Given the description of an element on the screen output the (x, y) to click on. 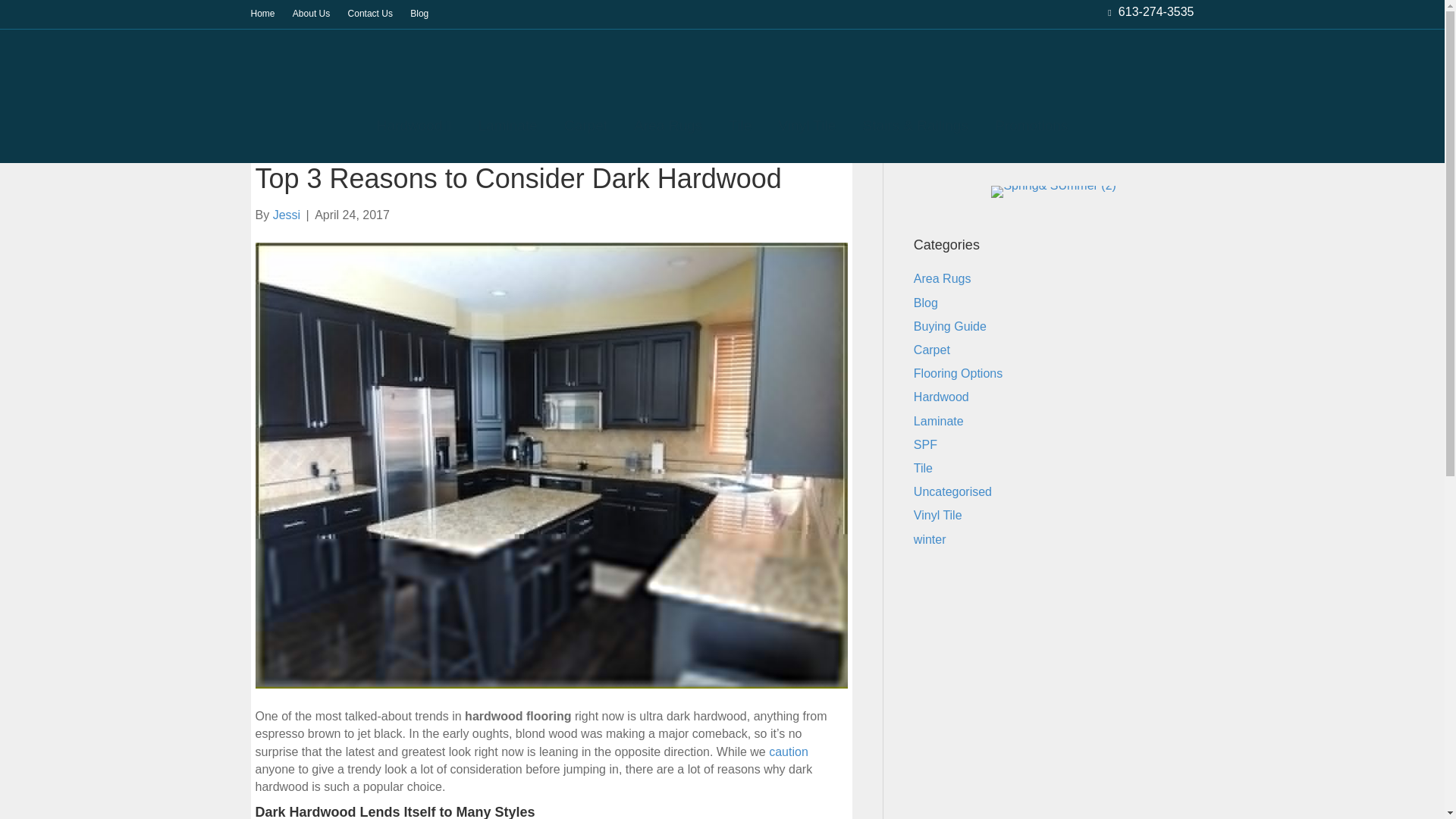
Blog (419, 13)
Home (262, 13)
Vinyl Tile (807, 126)
Promotions (1031, 126)
Hardwood (414, 126)
Contact Us (370, 13)
Carpet (585, 126)
caution (788, 751)
Jessi (286, 214)
About Us (311, 13)
Tile (739, 126)
613-274-3535 (1155, 11)
Laminate (507, 126)
Area Rugs (668, 126)
